Given the description of an element on the screen output the (x, y) to click on. 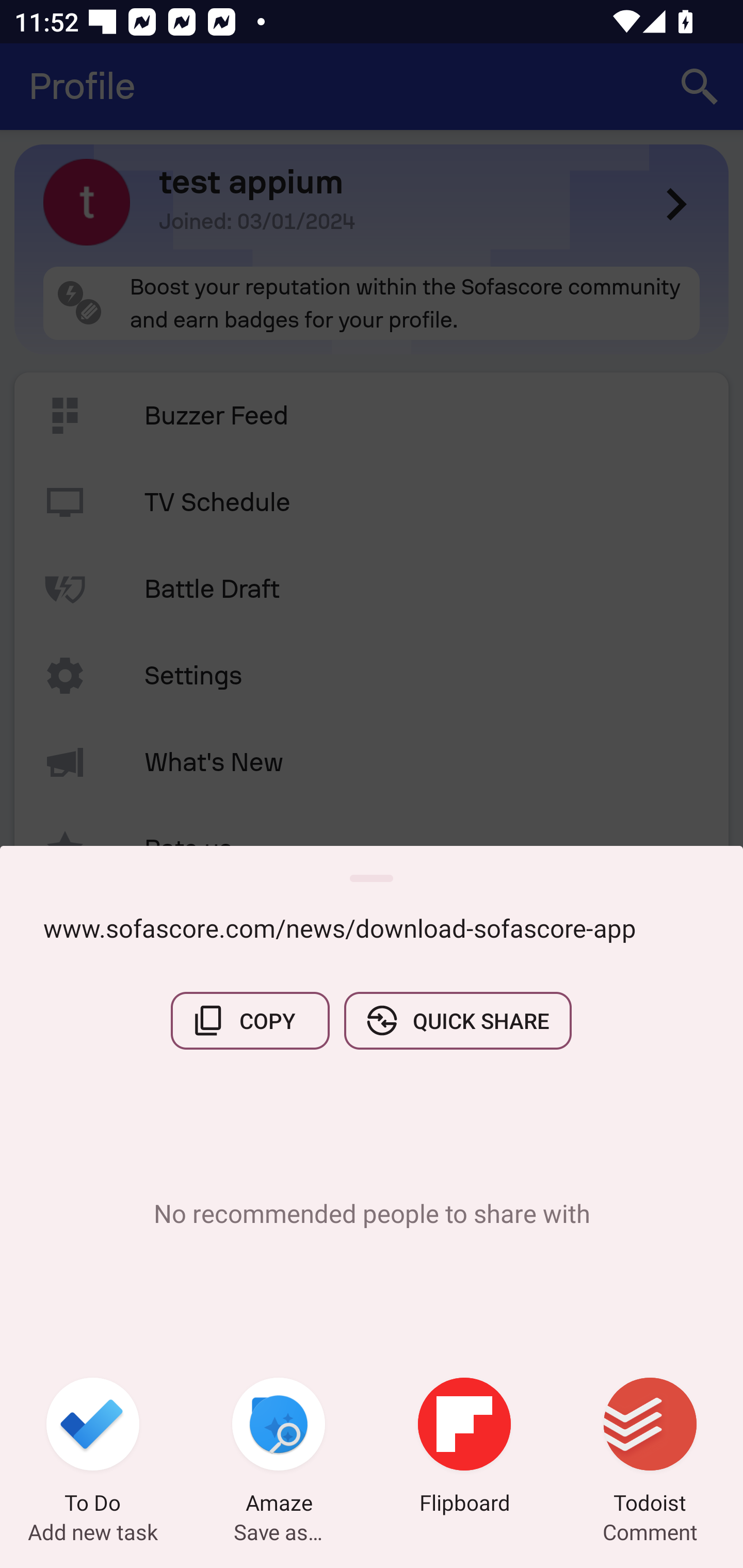
COPY (249, 1020)
QUICK SHARE (457, 1020)
To Do Add new task (92, 1448)
Amaze Save as… (278, 1448)
Flipboard (464, 1448)
Todoist Comment (650, 1448)
